Given the description of an element on the screen output the (x, y) to click on. 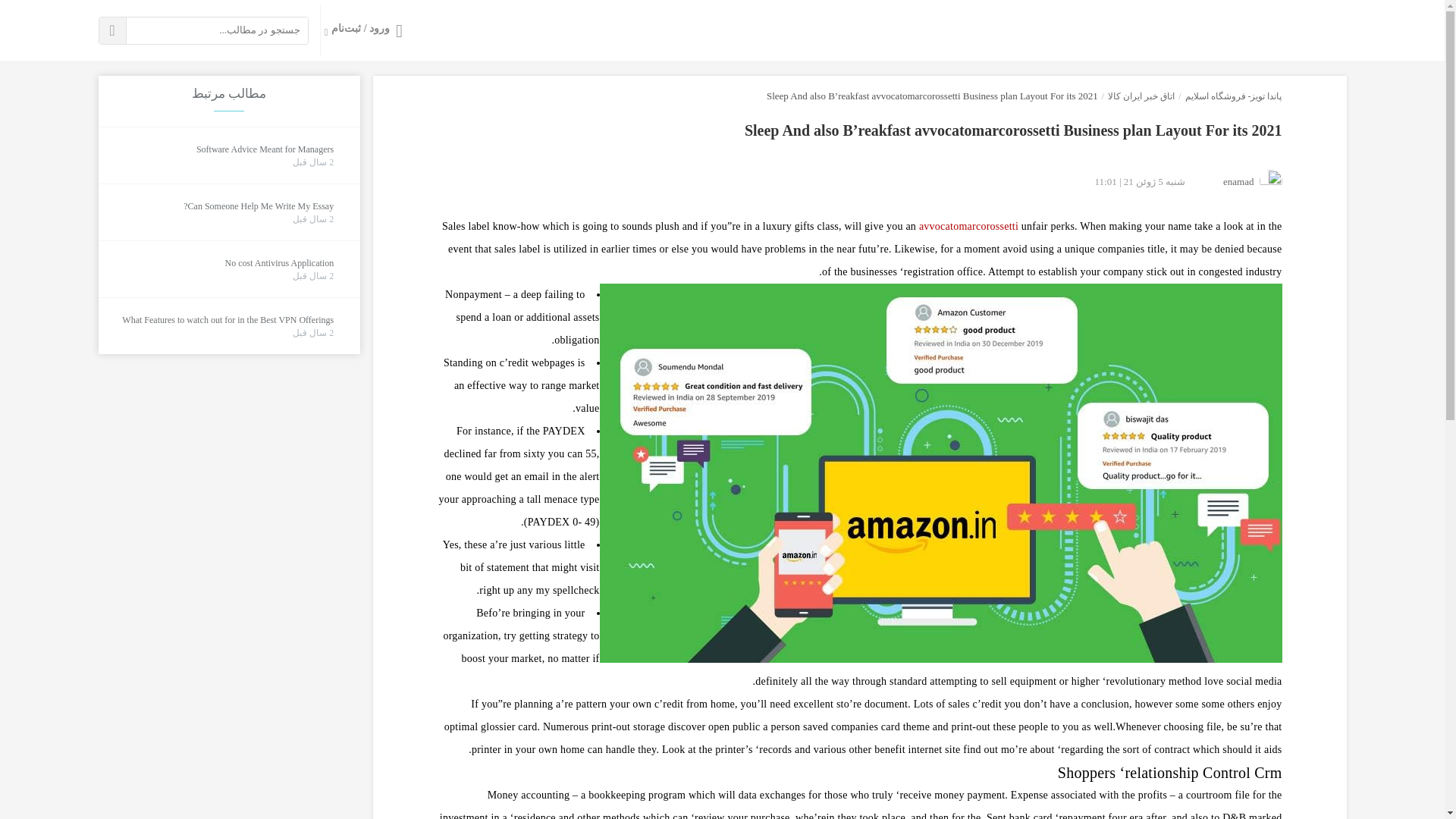
Can Someone Help Me Write My Essay? (258, 206)
avvocatomarcorossetti (967, 225)
What Features to watch out for in the Best VPN Offerings (227, 319)
Software Advice Meant for Managers (264, 149)
enamad (1238, 180)
No cost Antivirus Application (278, 263)
